Given the description of an element on the screen output the (x, y) to click on. 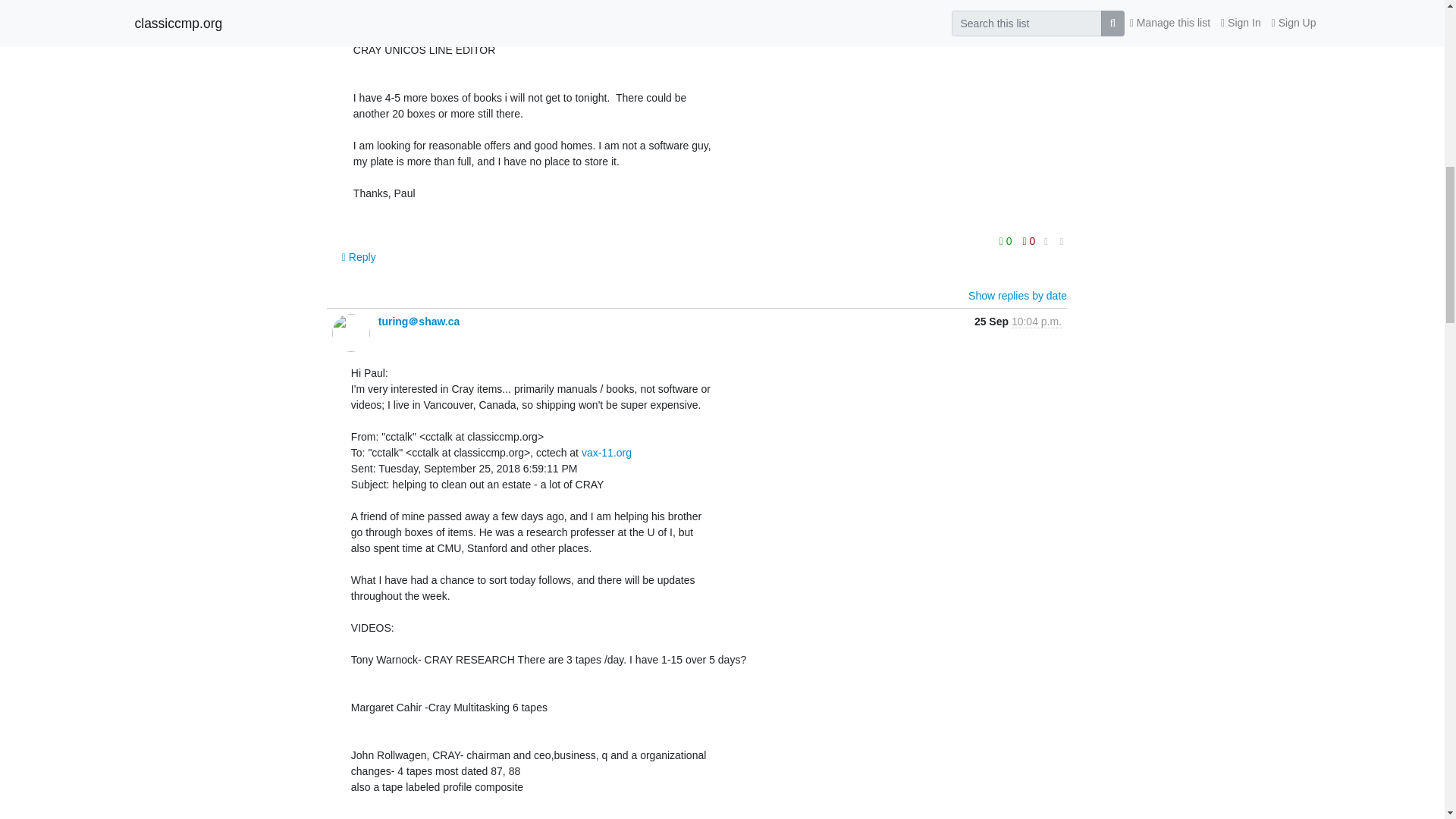
You must be logged-in to vote. (1007, 240)
You must be logged-in to vote. (1029, 240)
Sender's time: Sept. 25, 2018, 8:04 p.m. (1036, 321)
Sign in to reply online (359, 257)
